Given the description of an element on the screen output the (x, y) to click on. 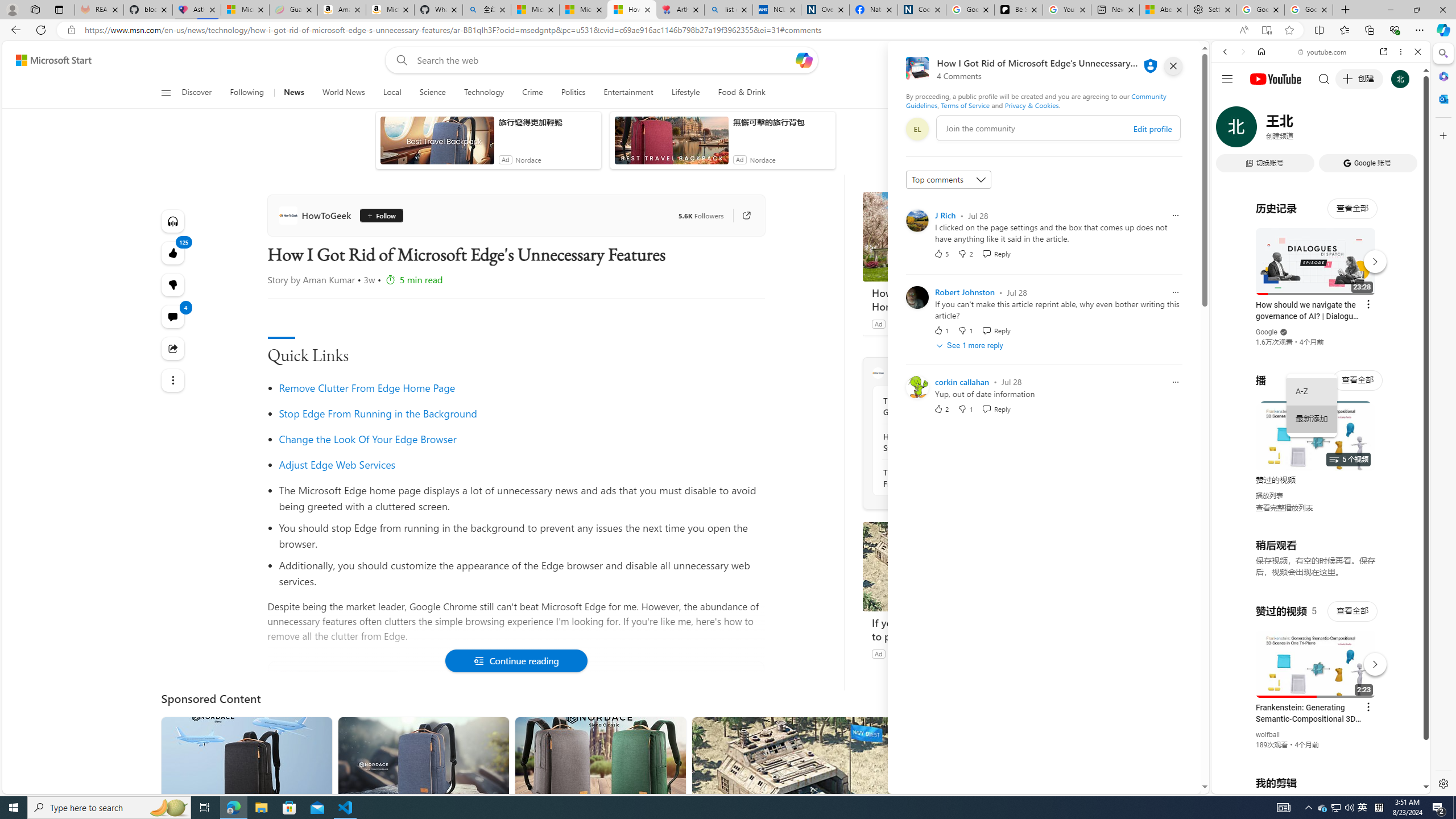
Actions for this site (1371, 661)
Open navigation menu (164, 92)
Profile Picture (916, 386)
Change the Look Of Your Edge Browser (521, 438)
Local (391, 92)
5 Like (940, 253)
Profile Picture (916, 386)
World News (343, 92)
